Given the description of an element on the screen output the (x, y) to click on. 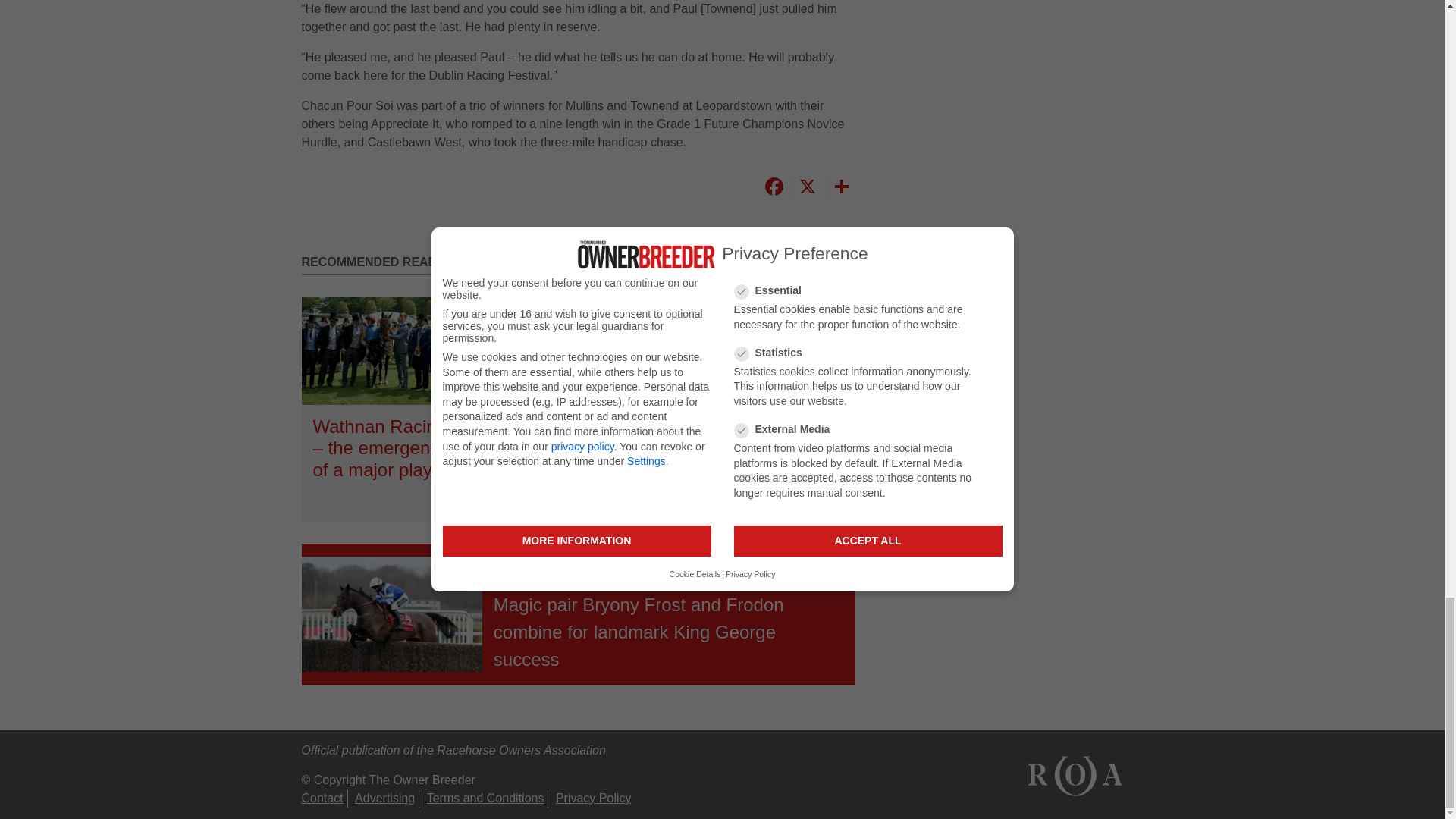
X (805, 187)
Facebook (772, 187)
Share (840, 187)
